Given the description of an element on the screen output the (x, y) to click on. 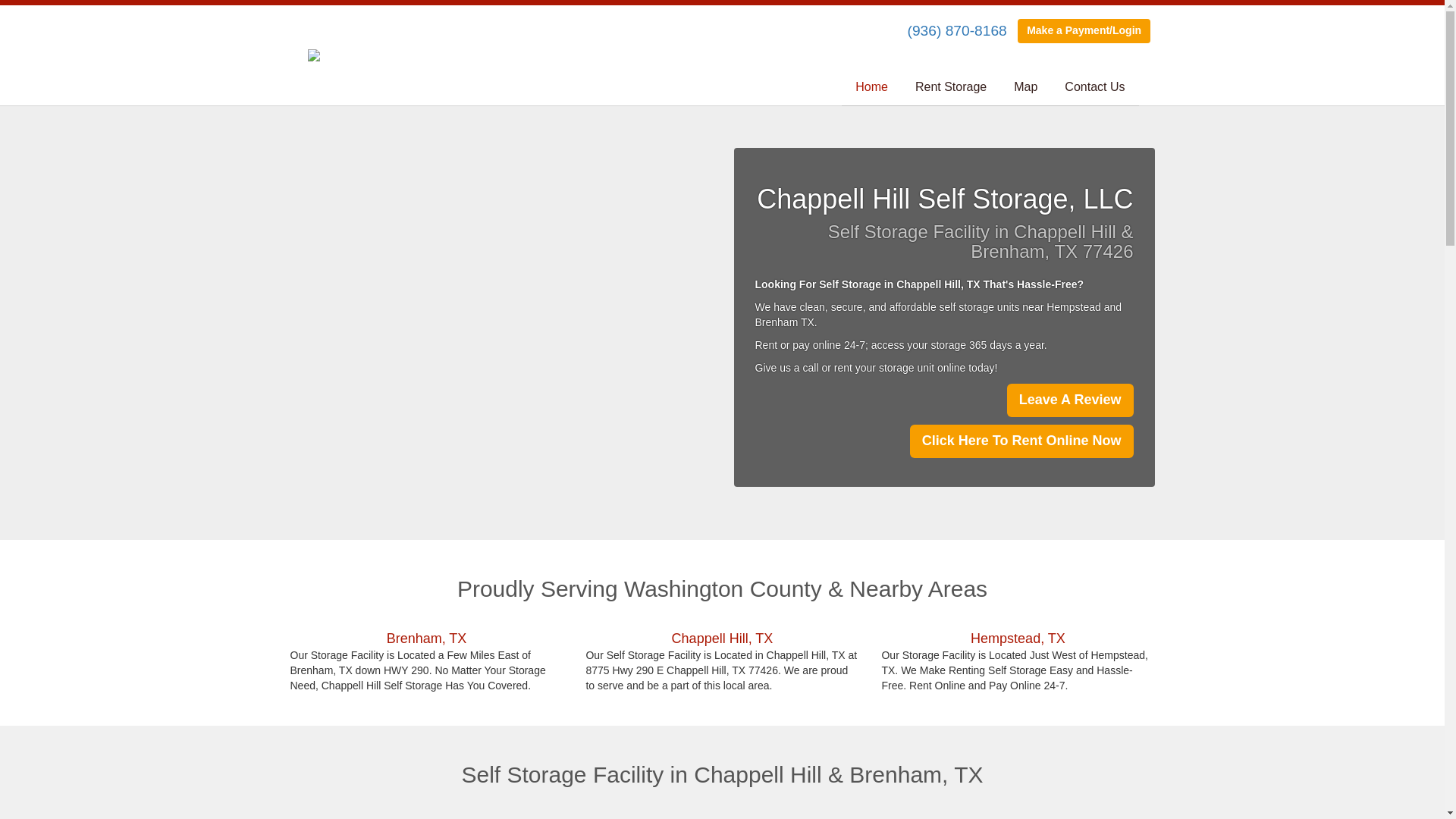
Leave A Review (1070, 400)
Home (871, 87)
Click Here To Rent Online Now (1022, 441)
Rent Storage (950, 87)
Map (1025, 87)
Contact Us (1094, 87)
